Given the description of an element on the screen output the (x, y) to click on. 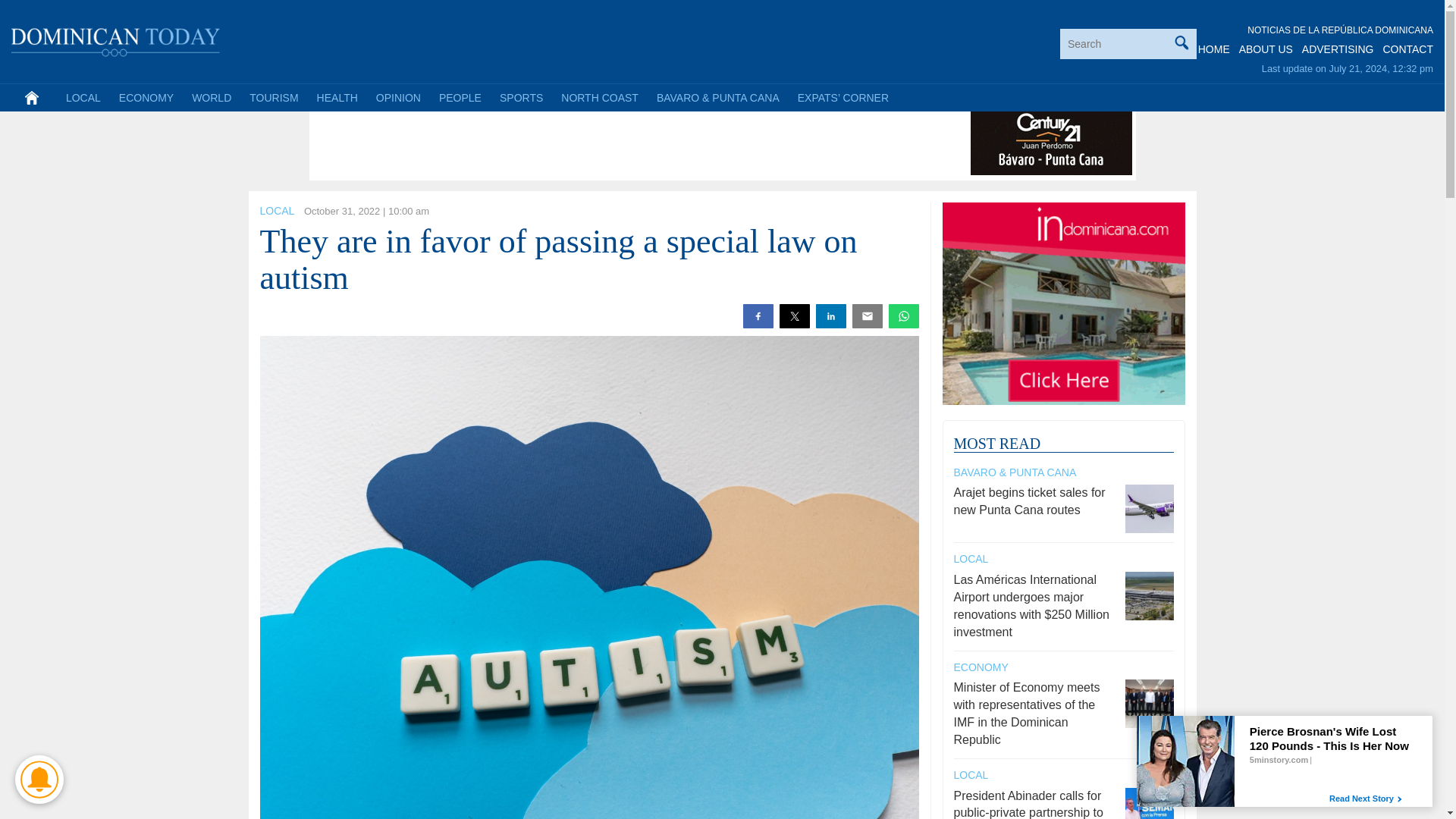
LOCAL (83, 97)
HEALTH (336, 97)
TOURISM (273, 97)
ECONOMY (146, 97)
PEOPLE (459, 97)
WORLD (211, 97)
SPORTS (520, 97)
CONTACT (1406, 49)
Dominican Today News - Santo Domingo and Dominican Republic (116, 38)
OPINION (397, 97)
NORTH COAST (599, 97)
ADVERTISING (1337, 49)
ABOUT US (1265, 49)
LOCAL (276, 210)
